Given the description of an element on the screen output the (x, y) to click on. 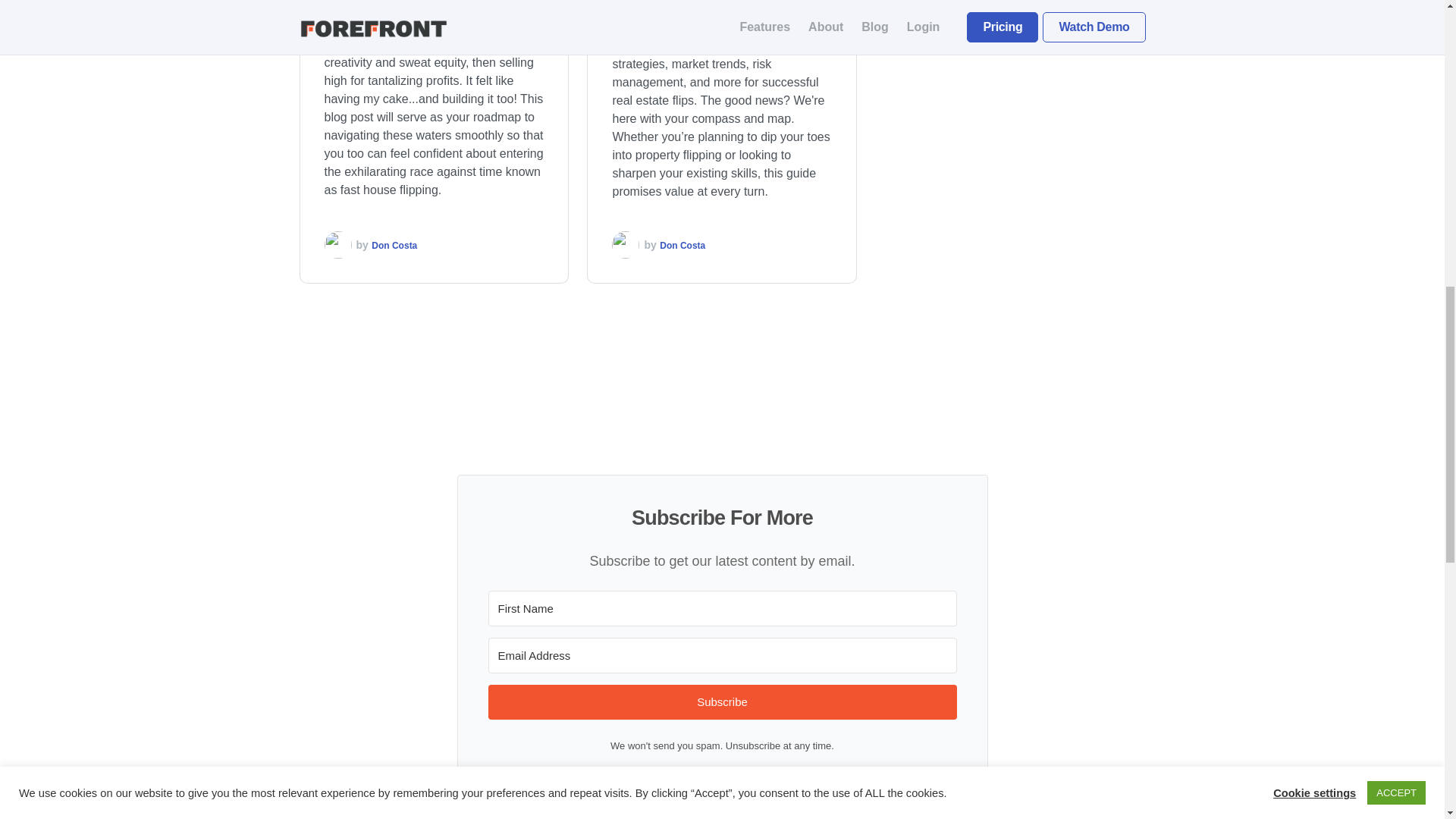
Don Costa (393, 245)
Don Costa (681, 245)
Posts by Don Costa (393, 245)
Posts by Don Costa (681, 245)
Subscribe (721, 702)
